Given the description of an element on the screen output the (x, y) to click on. 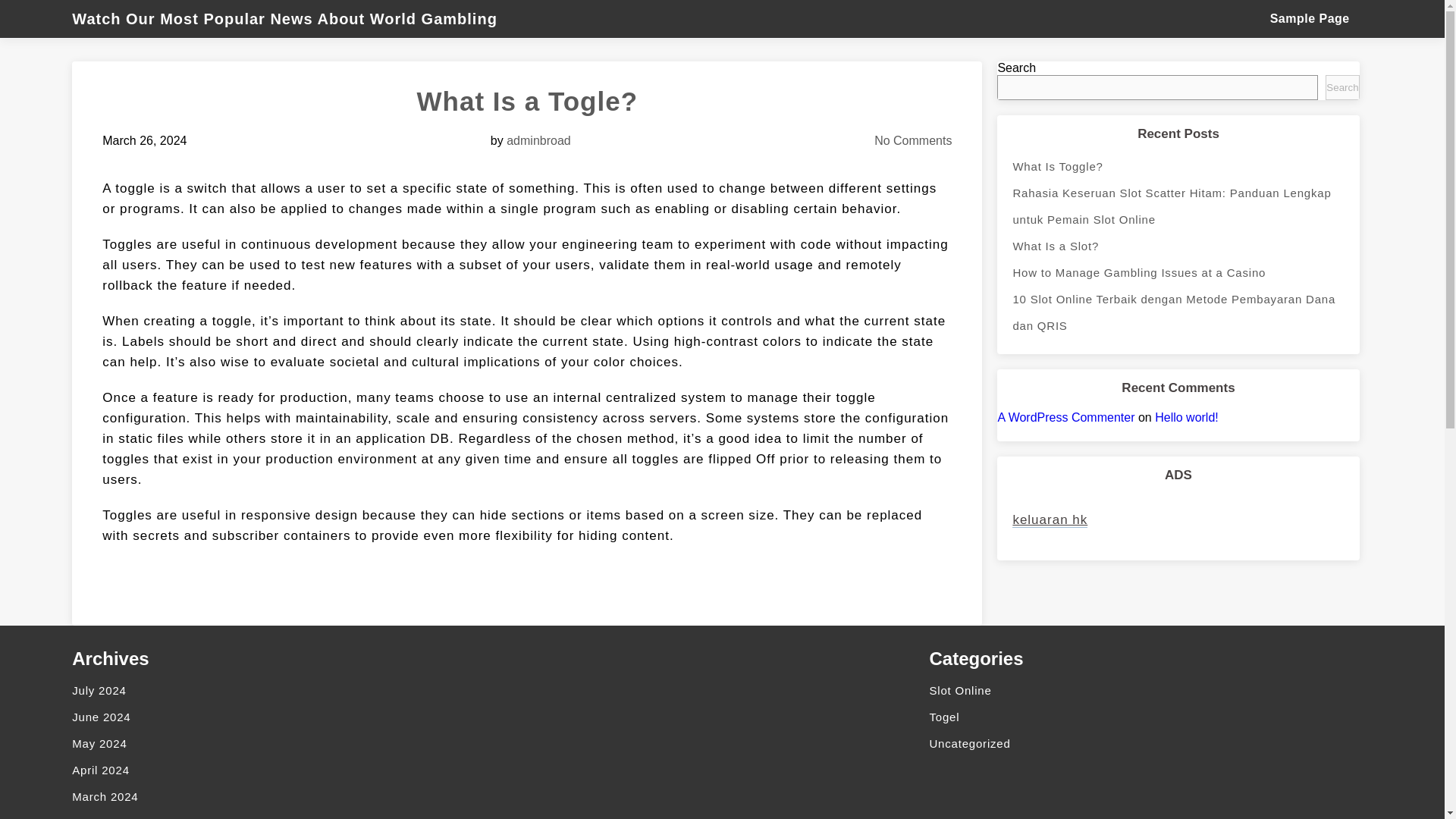
June 2024 (285, 716)
Sample Page (1309, 18)
April 2024 (285, 769)
What Is Toggle? (1177, 166)
adminbroad (538, 140)
February 2024 (285, 814)
March 2024 (285, 795)
No Comments (913, 140)
What Is a Slot? (1177, 245)
A WordPress Commenter (1065, 417)
May 2024 (285, 743)
Watch Our Most Popular News About World Gambling (291, 18)
Posts by adminbroad (538, 140)
